Given the description of an element on the screen output the (x, y) to click on. 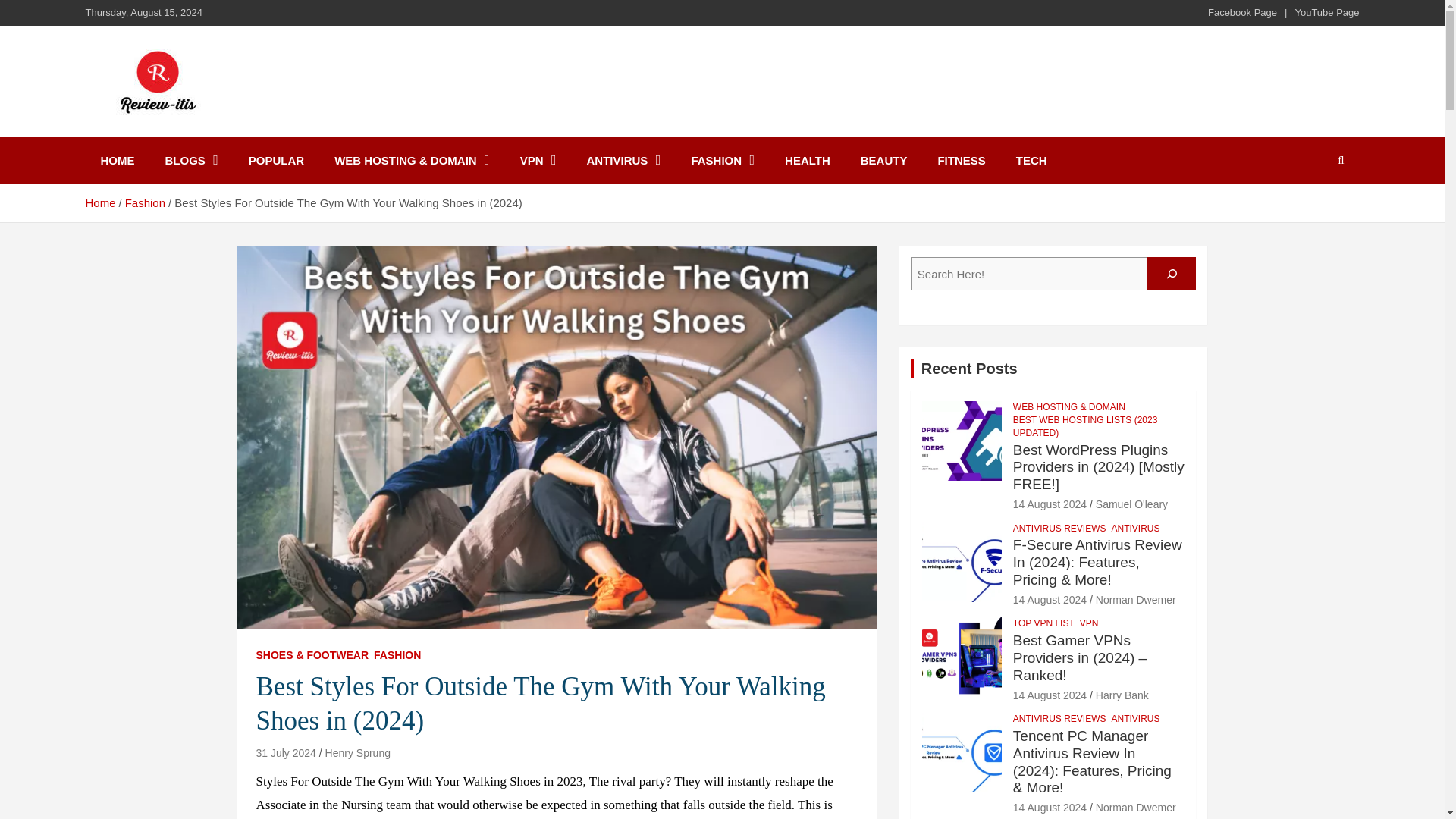
HOME (116, 160)
Facebook Page (1242, 12)
YouTube Page (1326, 12)
BLOGS (190, 160)
Review It Is (167, 133)
POPULAR (275, 160)
